Given the description of an element on the screen output the (x, y) to click on. 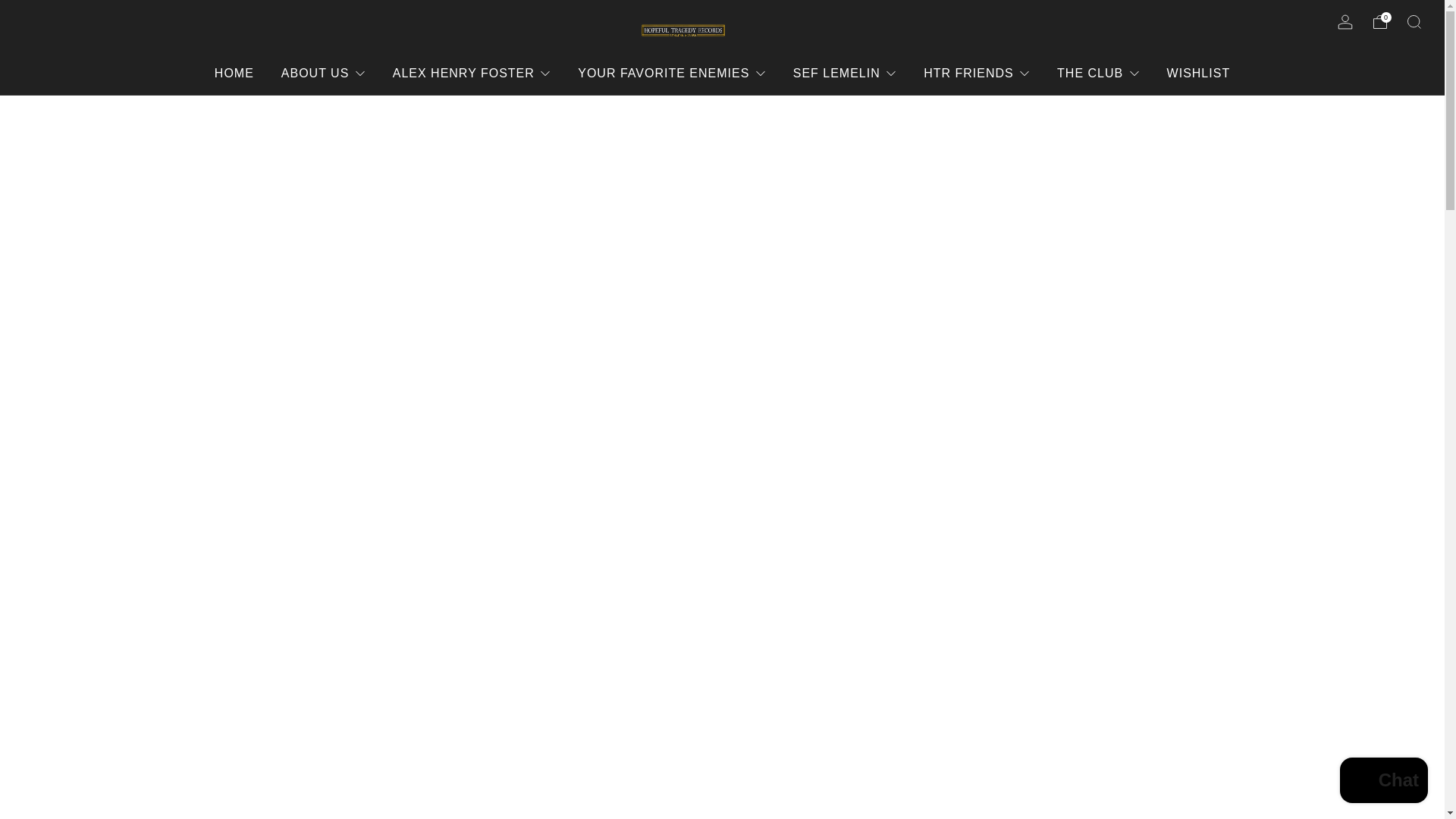
ALEX HENRY FOSTER (472, 72)
Shopify online store chat (1383, 781)
HOME (233, 72)
ABOUT US (323, 72)
